Given the description of an element on the screen output the (x, y) to click on. 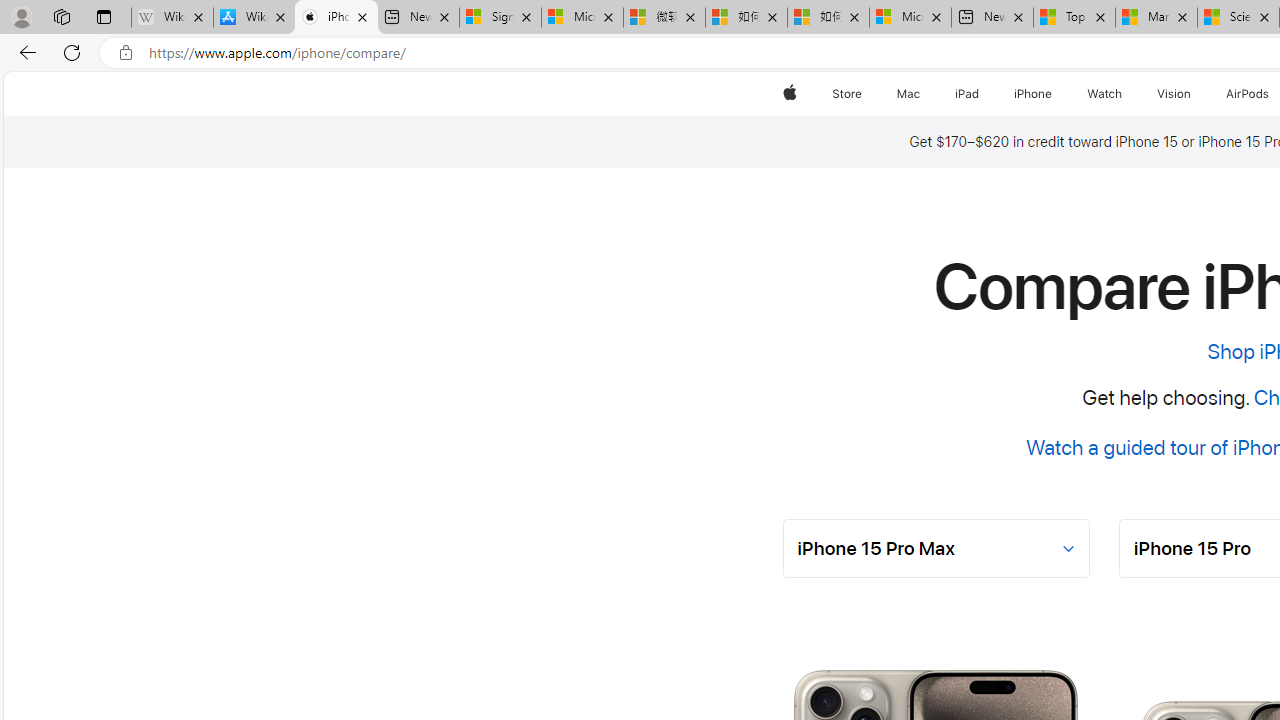
Watch menu (1125, 93)
iPhone menu (1055, 93)
Mac menu (922, 93)
Apple (789, 93)
AirPods (1247, 93)
iPhone - Compare Models - Apple (336, 17)
